Given the description of an element on the screen output the (x, y) to click on. 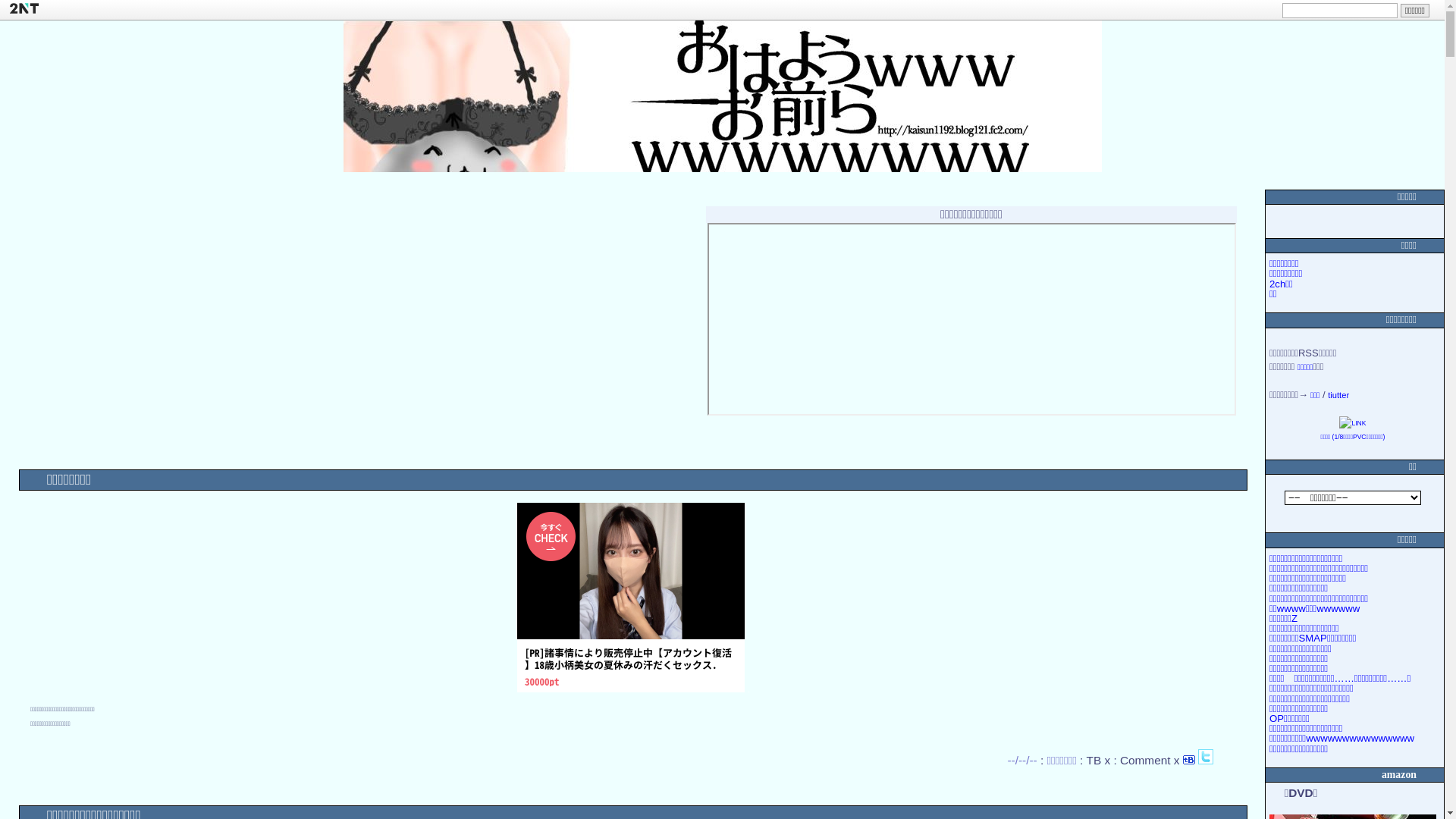
 Return to Primary Page  Element type: hover (722, 96)
--/--/-- Element type: text (1021, 759)
tiutter Element type: text (1338, 394)
